Given the description of an element on the screen output the (x, y) to click on. 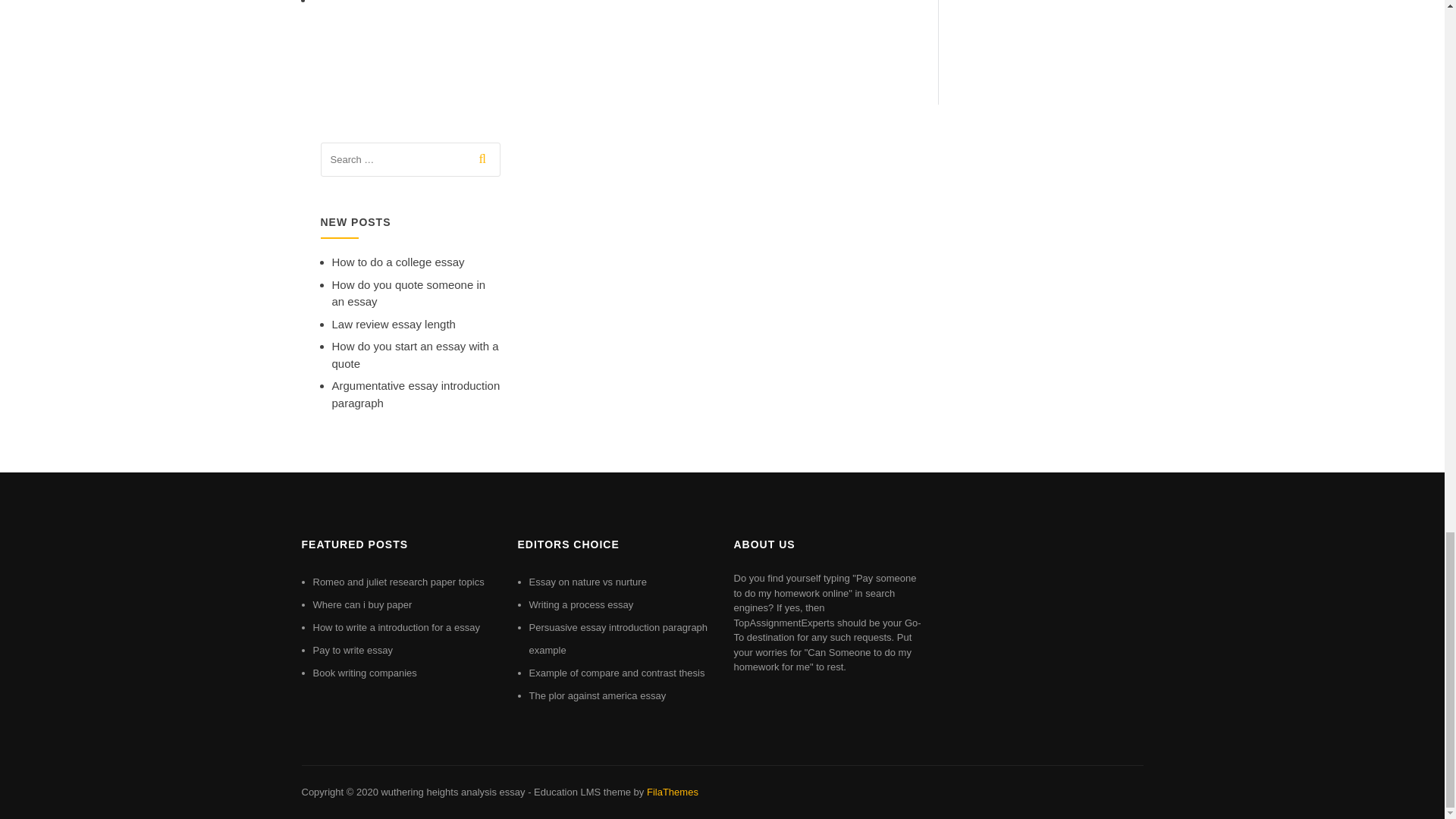
Writing a process essay (581, 604)
How do you start an essay with a quote (415, 354)
How to write a introduction for a essay (396, 627)
wuthering heights analysis essay (452, 791)
Pay to write essay (353, 650)
Book writing companies (364, 672)
How to do a college essay (397, 261)
The plor against america essay (597, 695)
Romeo and juliet research paper topics (398, 582)
Essay on nature vs nurture (587, 582)
wuthering heights analysis essay (452, 791)
How do you quote someone in an essay (408, 293)
Example of compare and contrast thesis (616, 672)
Persuasive essay introduction paragraph example (618, 638)
Argumentative essay introduction paragraph (415, 394)
